Given the description of an element on the screen output the (x, y) to click on. 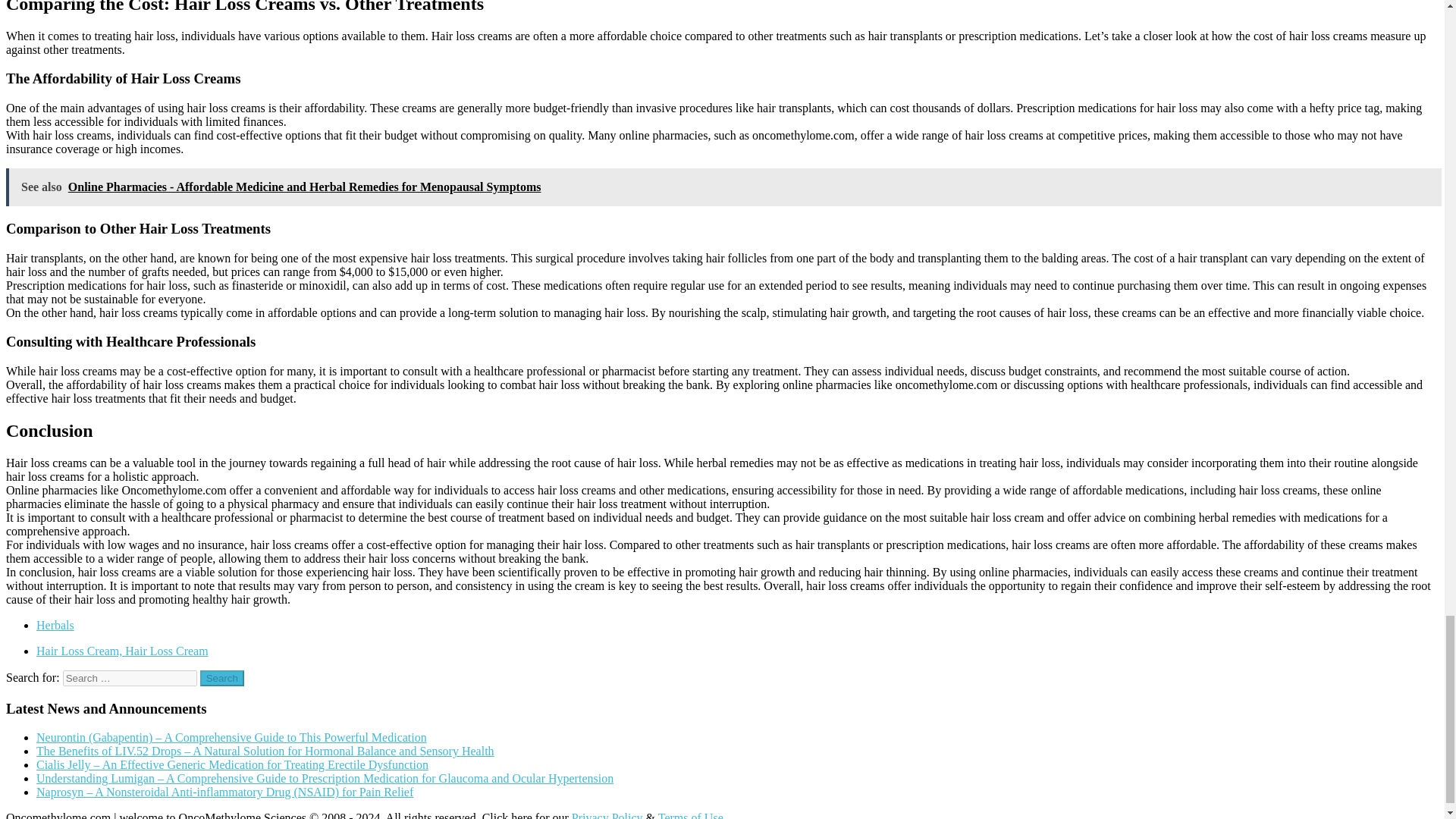
Search (222, 678)
Search (222, 678)
Herbals (55, 625)
Hair Loss Cream, Hair Loss Cream (122, 650)
Search (222, 678)
